Given the description of an element on the screen output the (x, y) to click on. 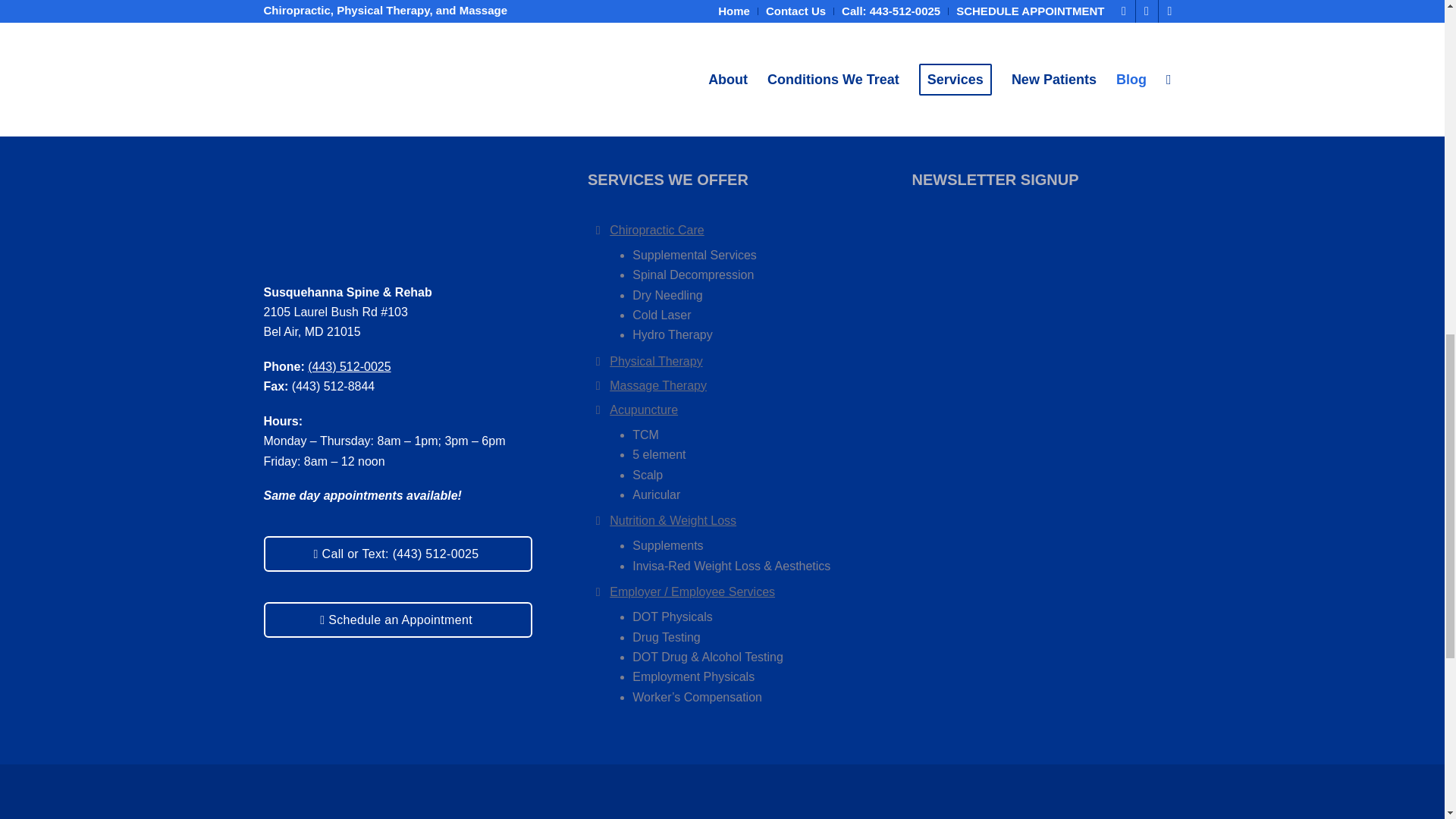
Physical Therapy (598, 357)
Physical Therapy (655, 360)
Chiropractic Care (598, 226)
Massage Therapy (598, 382)
Chiropractic Care (656, 229)
Massage Therapy (658, 385)
